Given the description of an element on the screen output the (x, y) to click on. 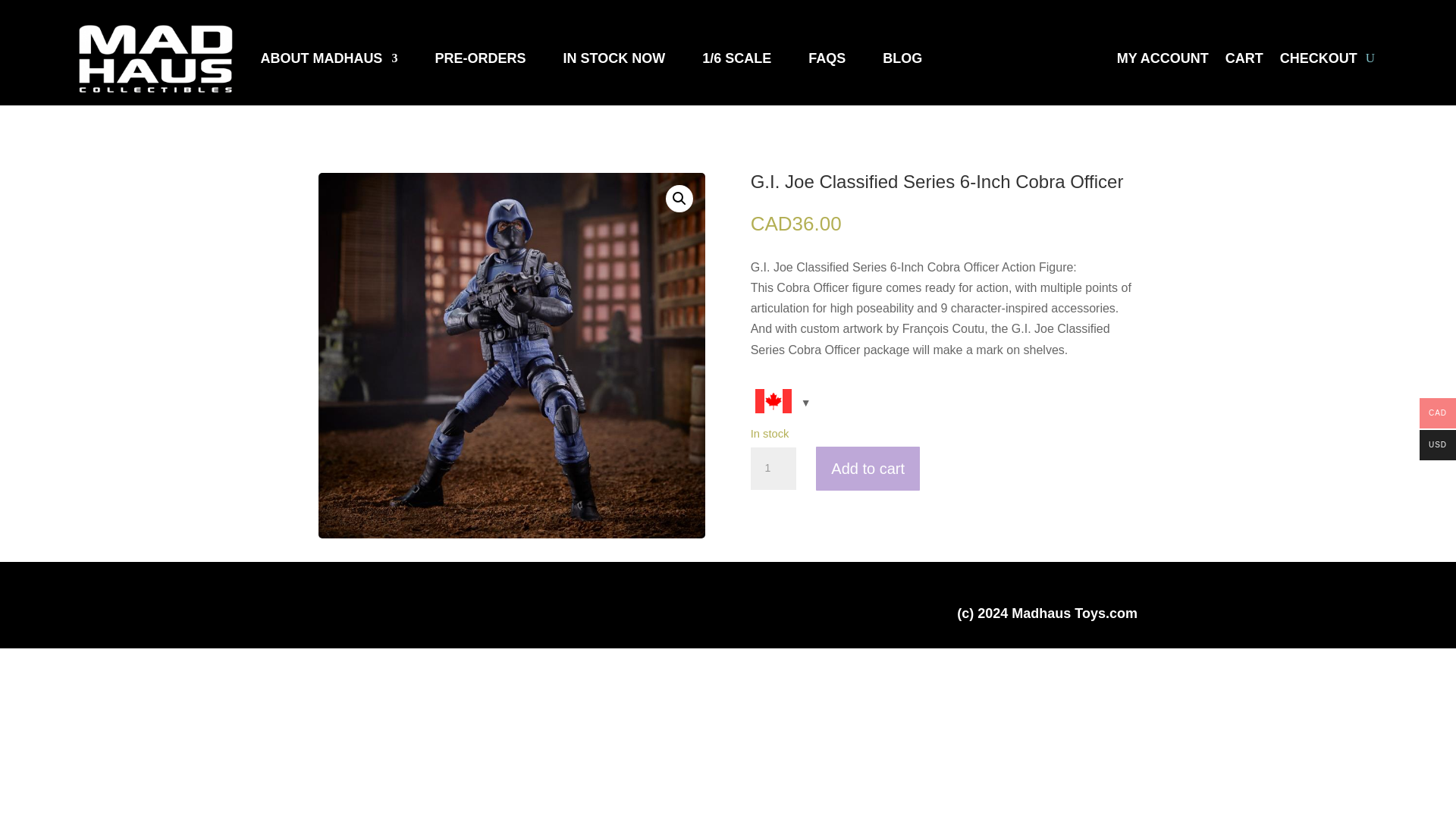
ABOUT MADHAUS (328, 58)
1 (773, 468)
CHECKOUT (1317, 61)
Add to cart (867, 469)
PRE-ORDERS (479, 58)
Please select your currency (780, 402)
IN STOCK NOW (613, 58)
CART (1244, 61)
MY ACCOUNT (1162, 61)
